Given the description of an element on the screen output the (x, y) to click on. 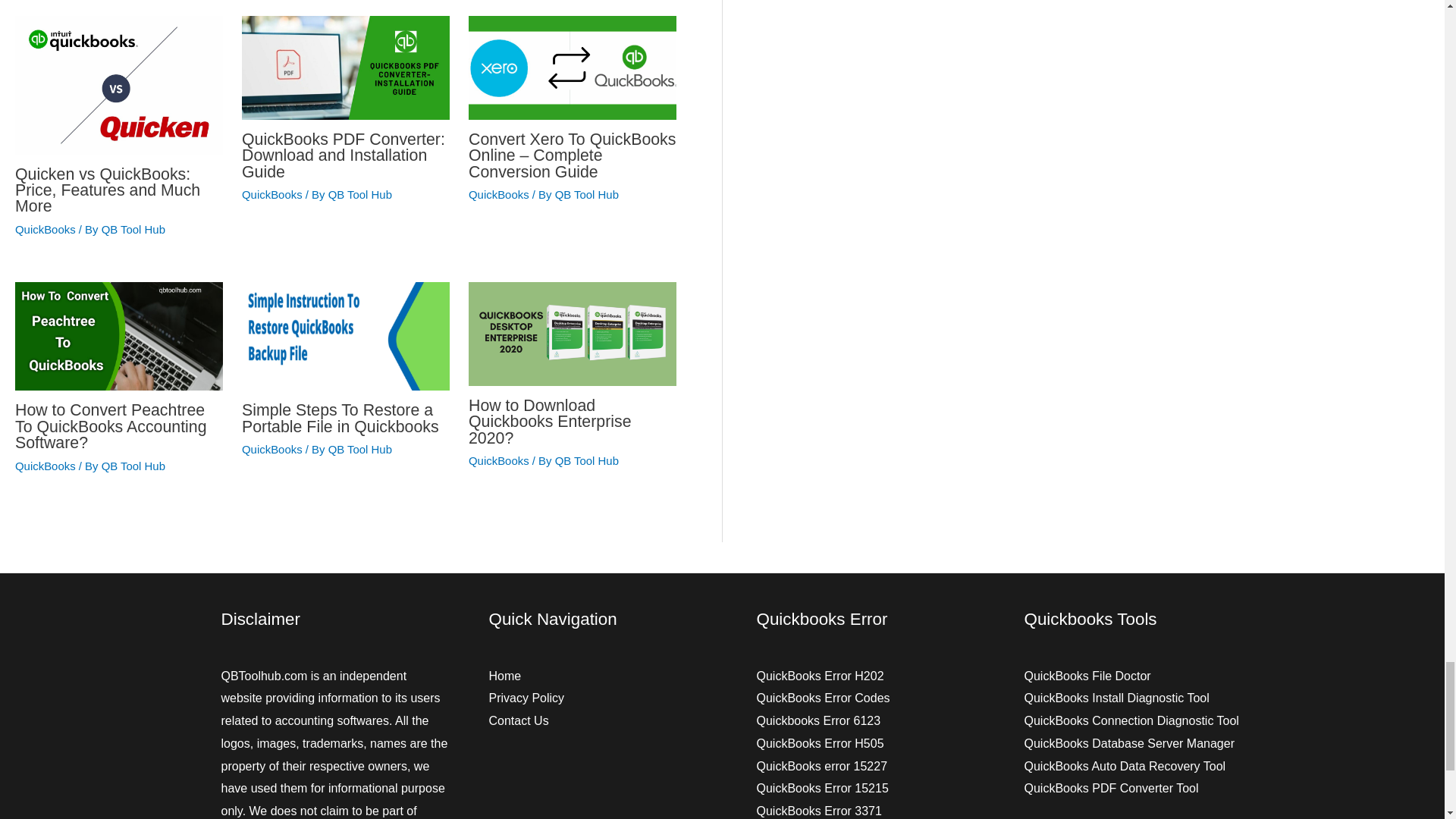
View all posts by QB Tool Hub (586, 194)
View all posts by QB Tool Hub (133, 228)
View all posts by QB Tool Hub (586, 460)
View all posts by QB Tool Hub (360, 194)
View all posts by QB Tool Hub (133, 465)
View all posts by QB Tool Hub (360, 449)
